Given the description of an element on the screen output the (x, y) to click on. 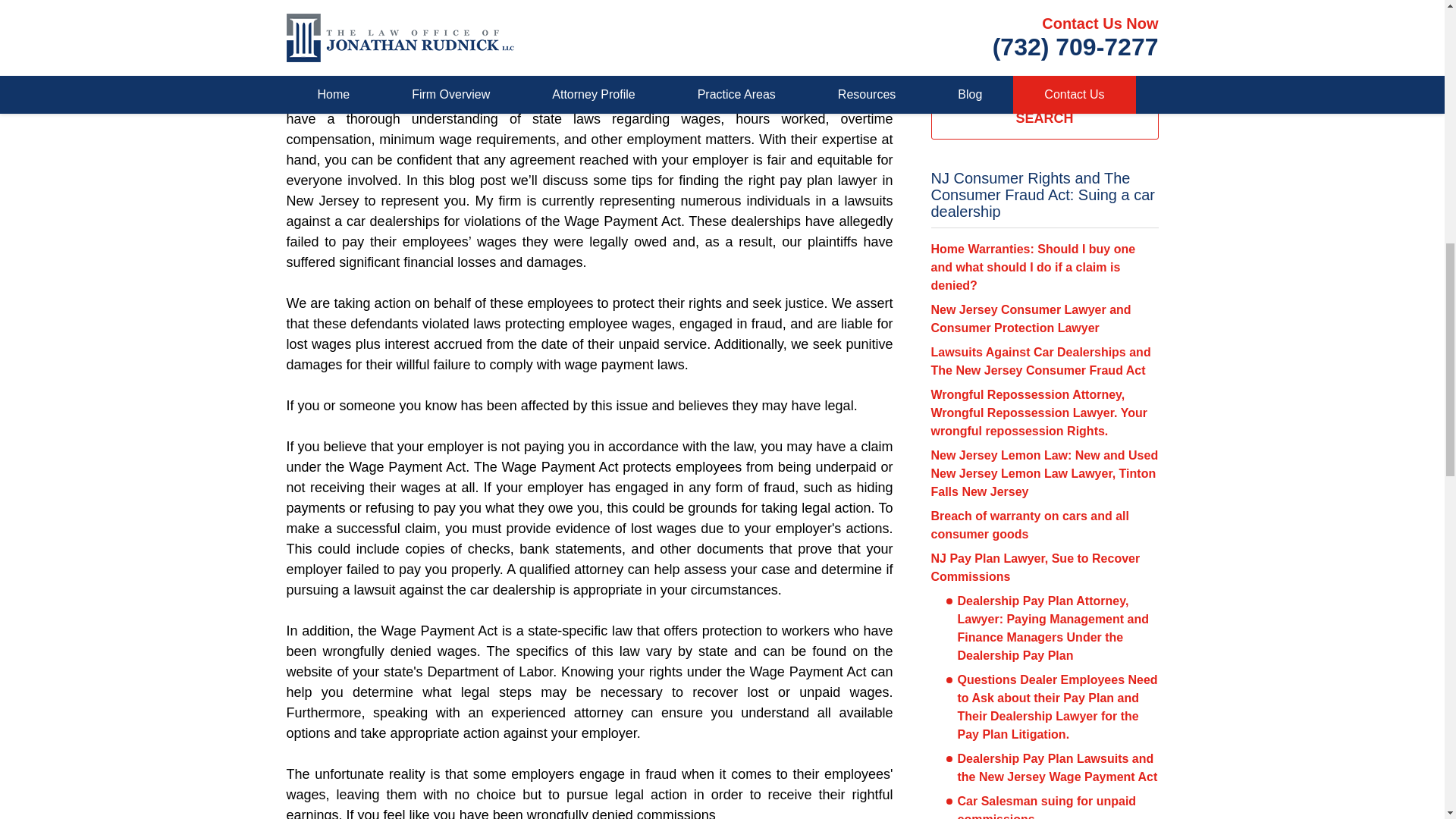
Breach of warranty on cars and all consumer goods (1030, 524)
New Jersey Consumer Lawyer and Consumer Protection Lawyer (1031, 318)
Search (1044, 71)
SEARCH (1044, 118)
NJ Pay Plan Lawyer, Sue to Recover Commissions (1035, 567)
